Given the description of an element on the screen output the (x, y) to click on. 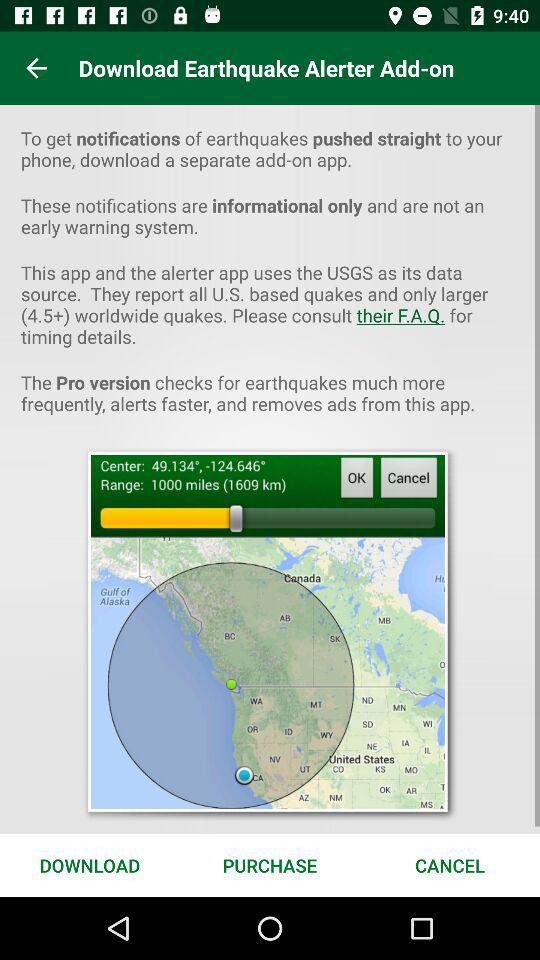
press the item next to cancel item (270, 864)
